Given the description of an element on the screen output the (x, y) to click on. 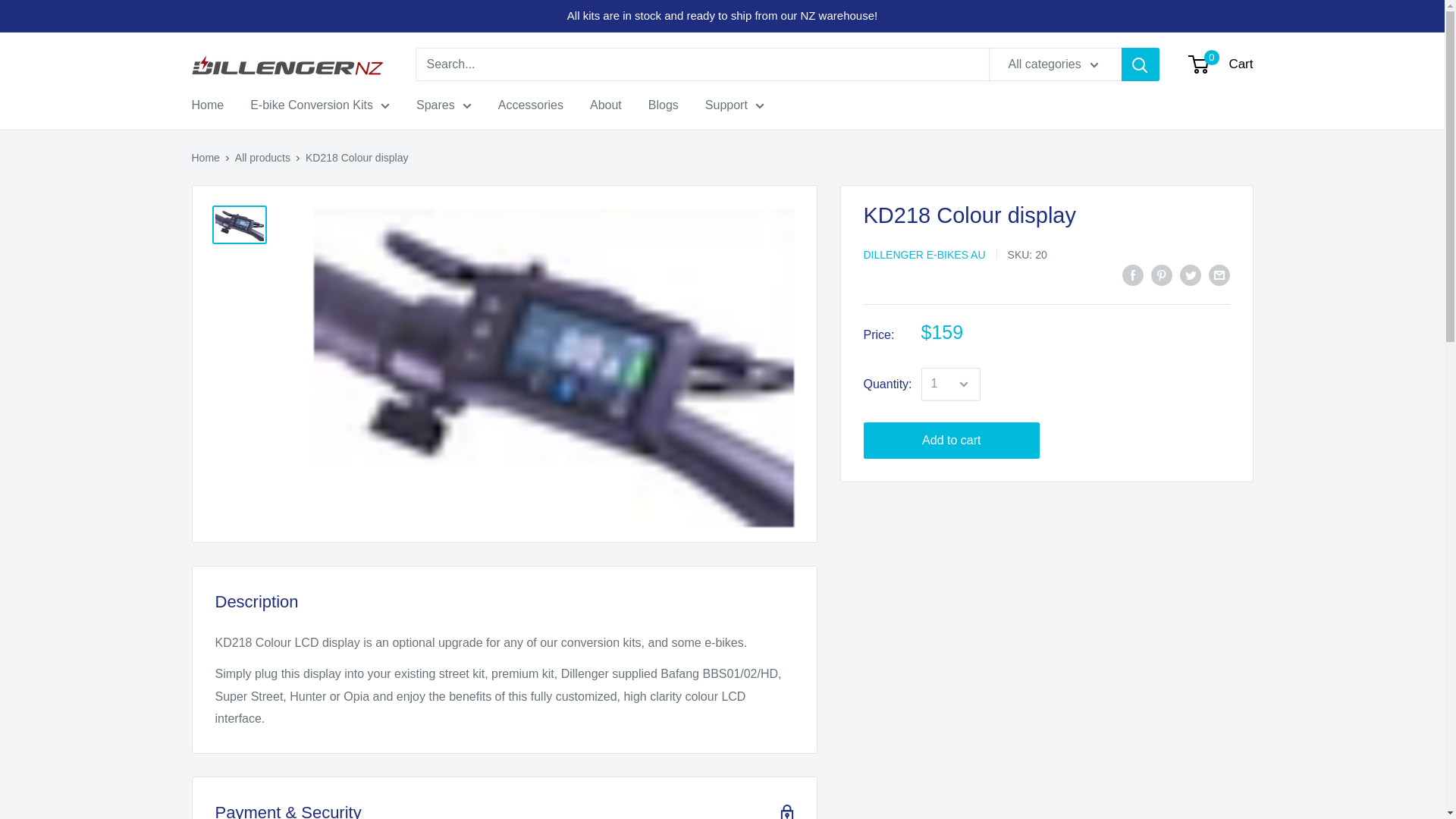
Home (207, 105)
E-bike Conversion Kits (320, 105)
